Given the description of an element on the screen output the (x, y) to click on. 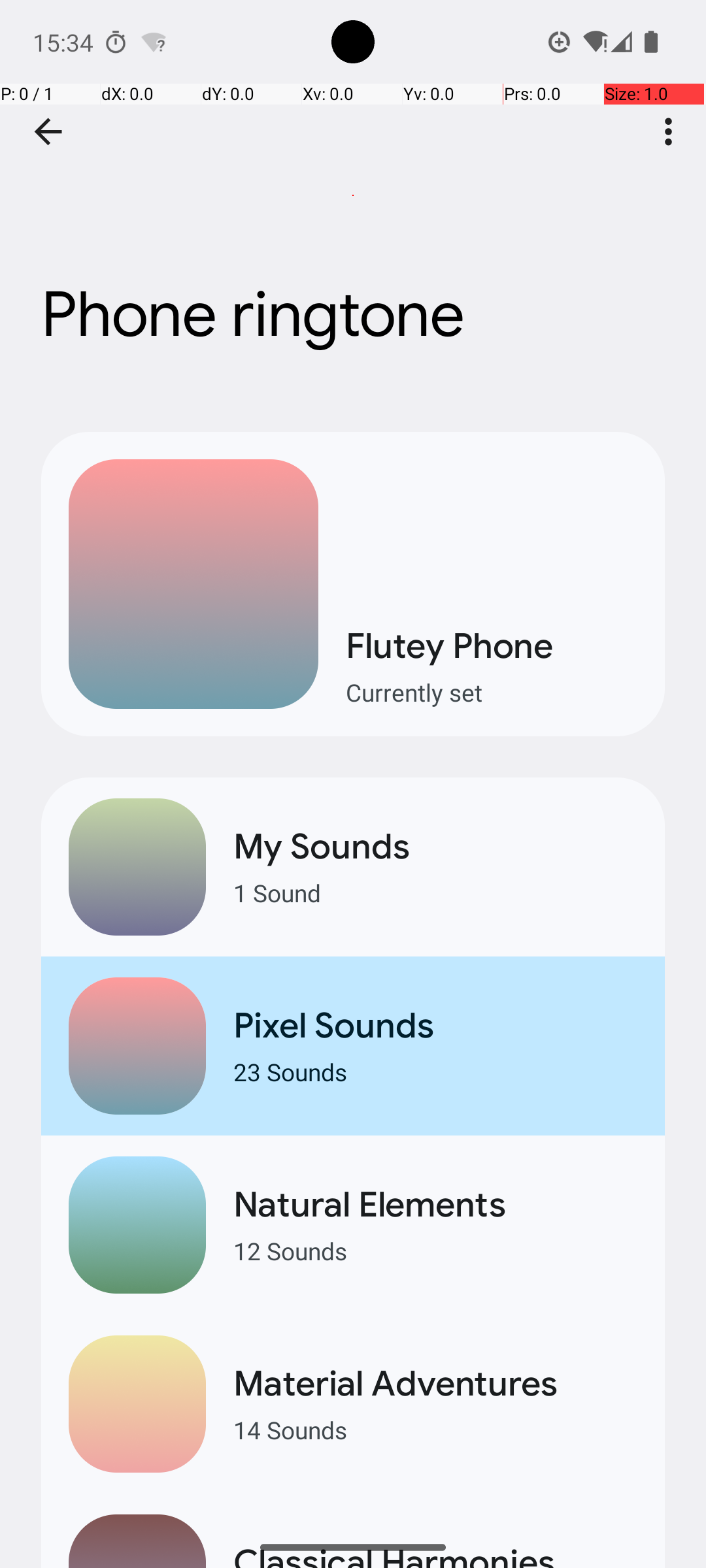
Currently set Element type: android.widget.TextView (491, 691)
My Sounds Element type: android.widget.TextView (435, 846)
1 Sound Element type: android.widget.TextView (435, 892)
